Given the description of an element on the screen output the (x, y) to click on. 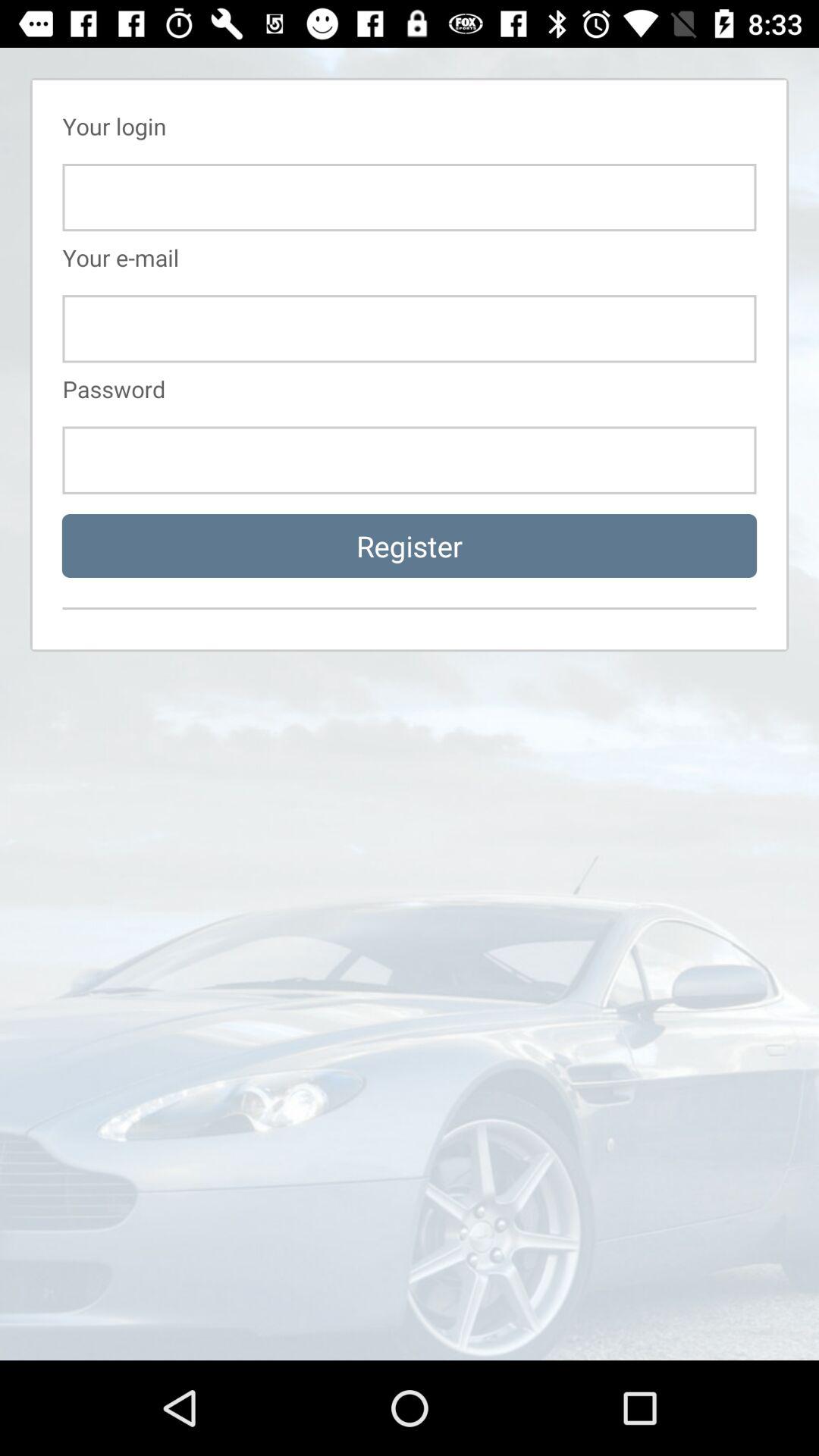
password entry (409, 460)
